Given the description of an element on the screen output the (x, y) to click on. 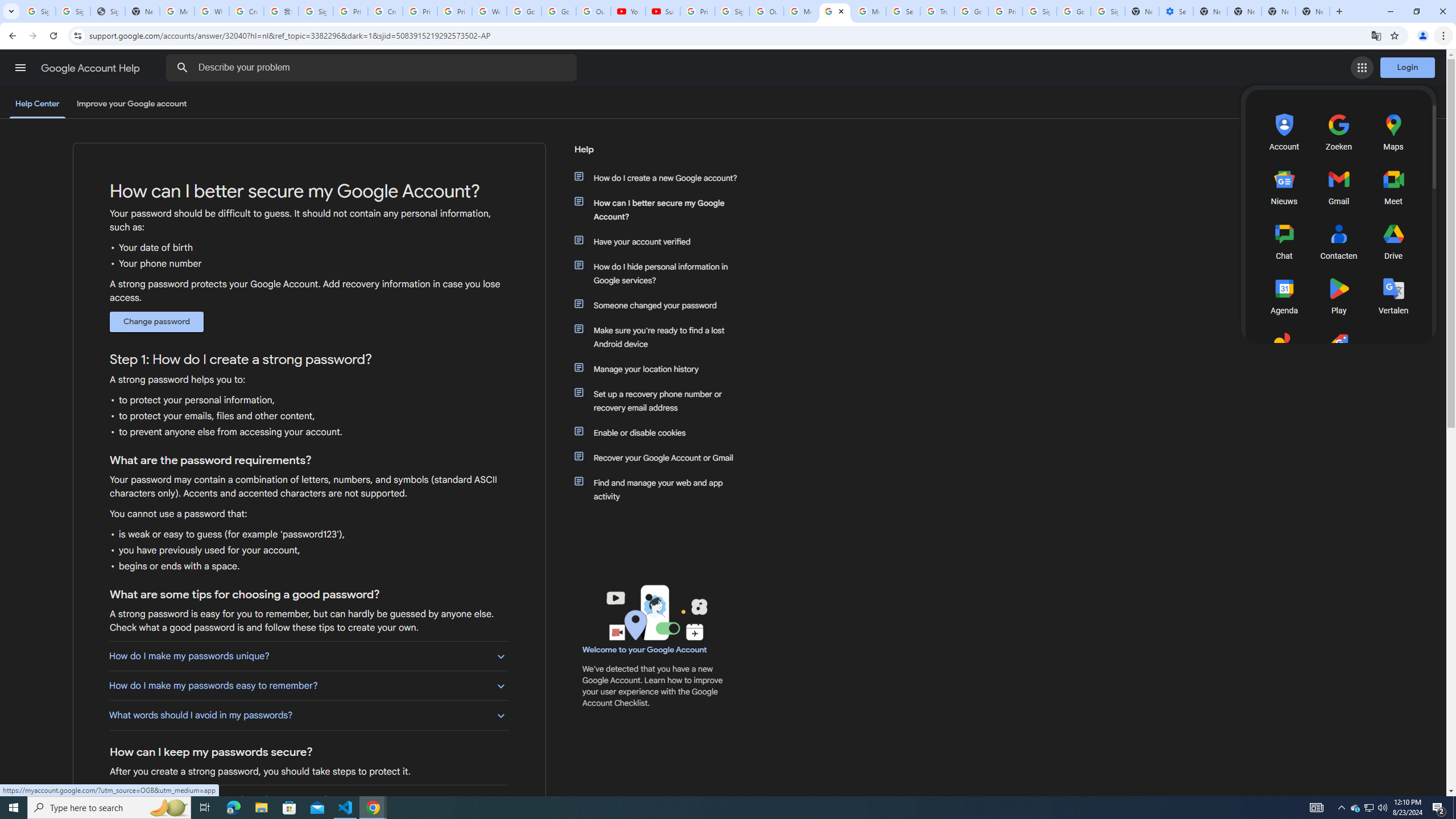
Sign in - Google Accounts (1107, 11)
Subscriptions - YouTube (662, 11)
Make sure you're ready to find a lost Android device (661, 336)
Manage your location history (661, 368)
Google Ads - Sign in (970, 11)
Help Center (36, 103)
Create your Google Account (384, 11)
Search our Doodle Library Collection - Google Doodles (903, 11)
